Given the description of an element on the screen output the (x, y) to click on. 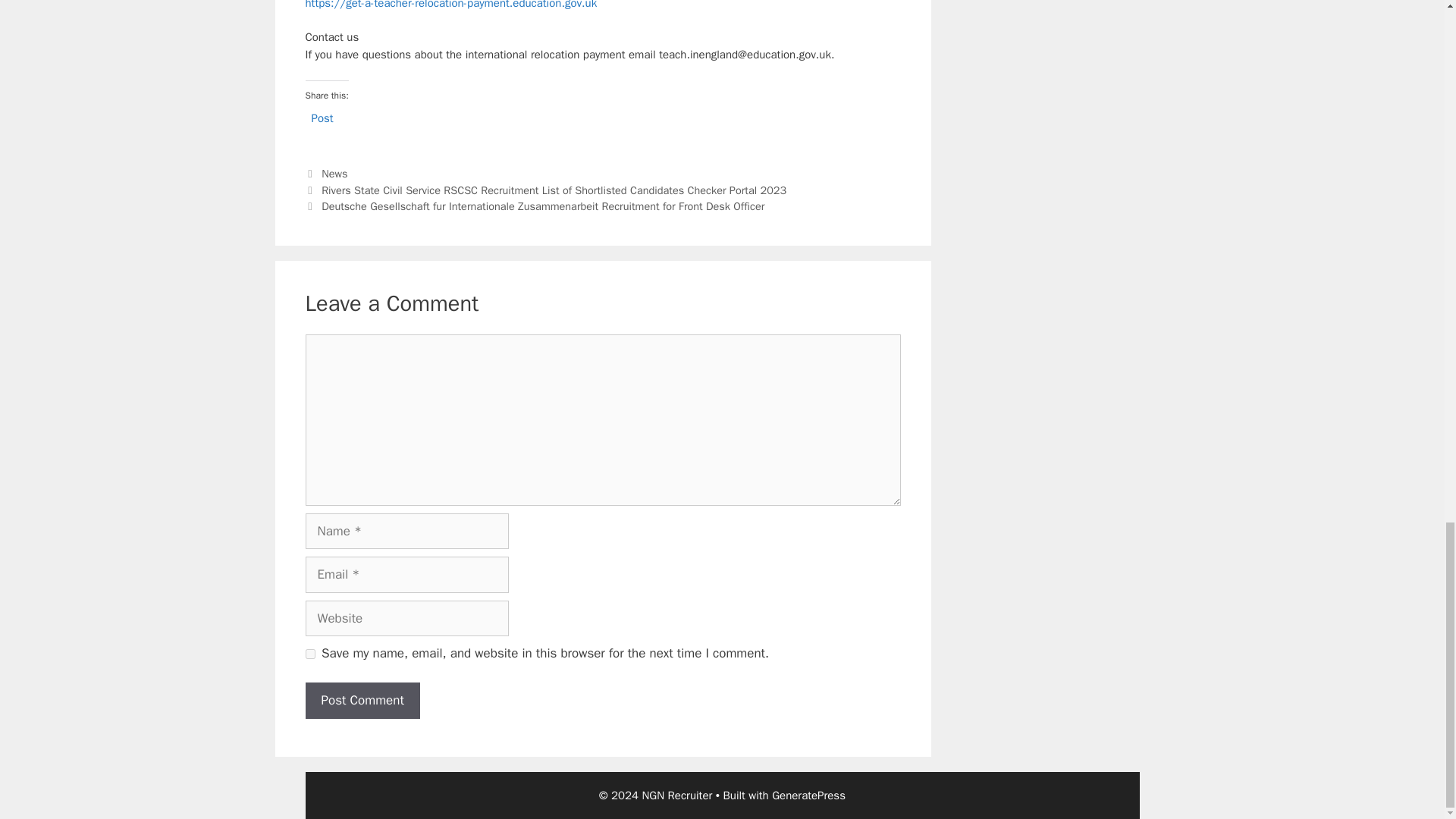
Post Comment (361, 700)
Post (322, 116)
yes (309, 654)
Post Comment (361, 700)
GeneratePress (808, 795)
News (334, 173)
